Given the description of an element on the screen output the (x, y) to click on. 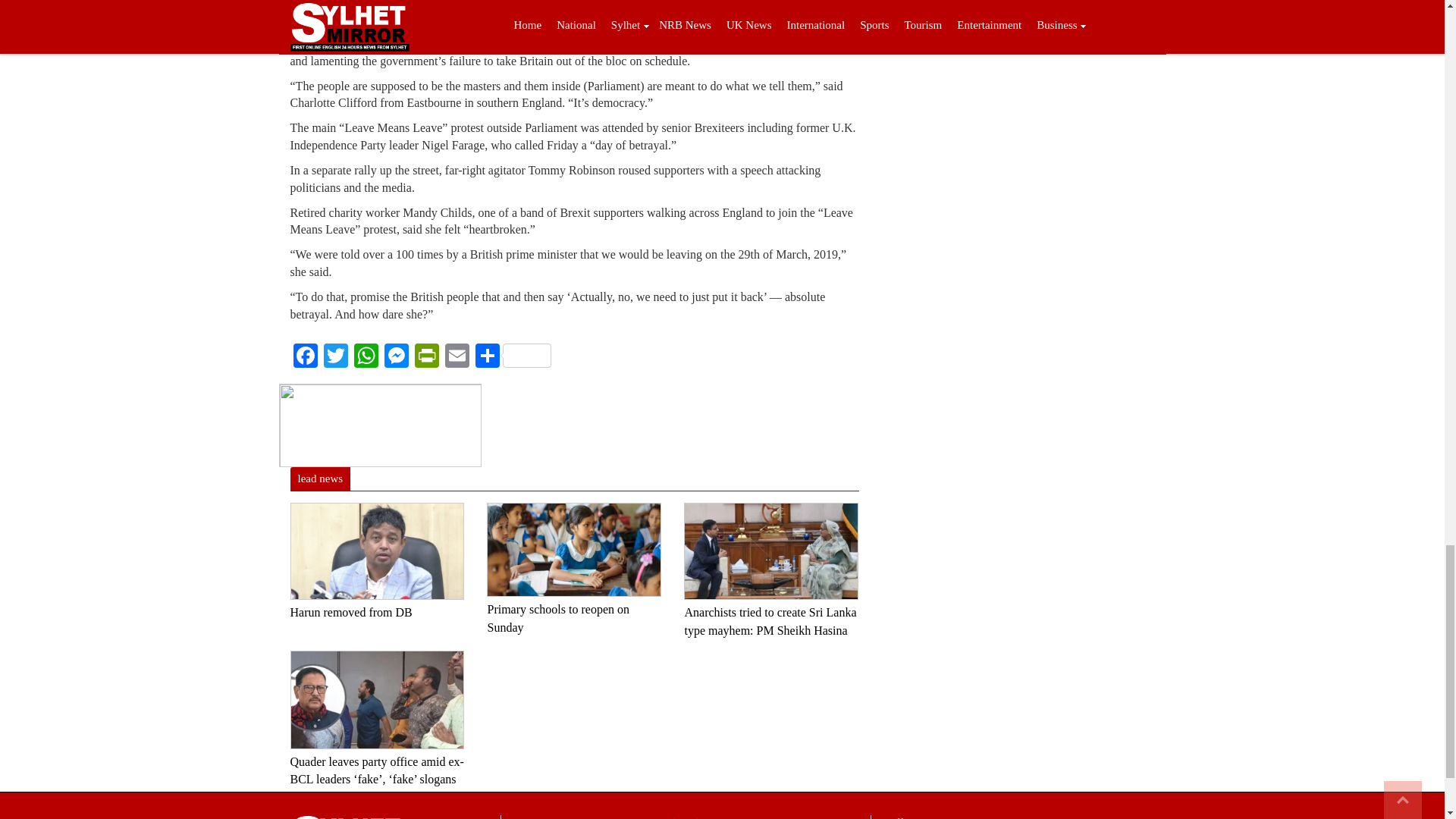
Facebook (304, 357)
Email (456, 357)
Twitter (335, 357)
Messenger (395, 357)
PrintFriendly (425, 357)
WhatsApp (365, 357)
